Given the description of an element on the screen output the (x, y) to click on. 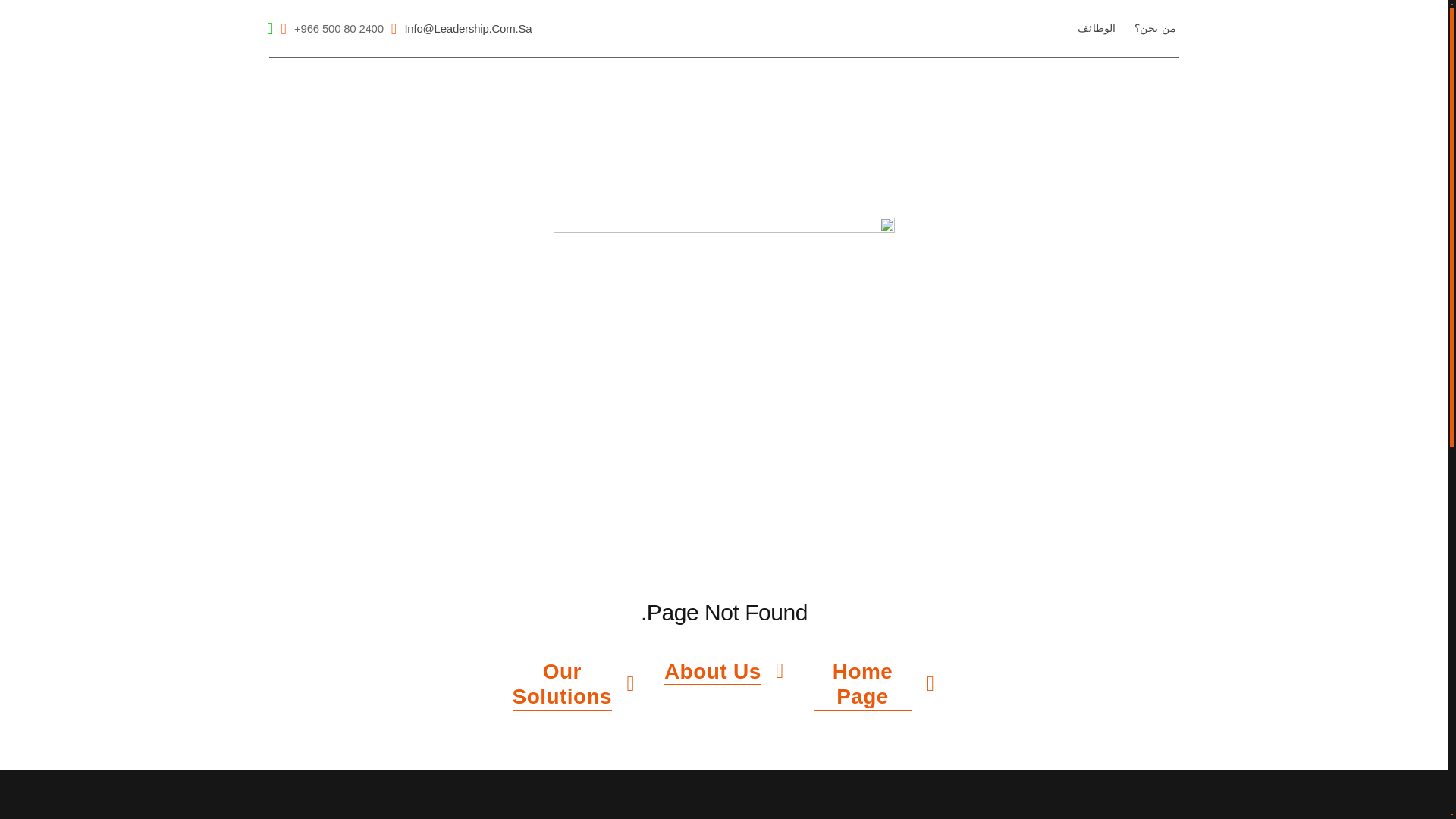
Our Solutions (573, 684)
About Us (723, 671)
Home Page (873, 684)
